Given the description of an element on the screen output the (x, y) to click on. 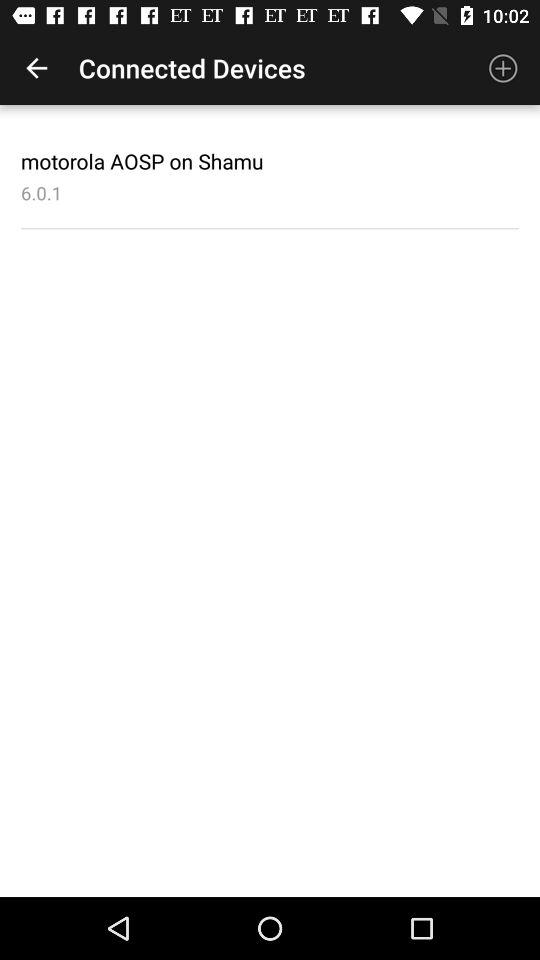
open the item next to the connected devices icon (503, 67)
